Given the description of an element on the screen output the (x, y) to click on. 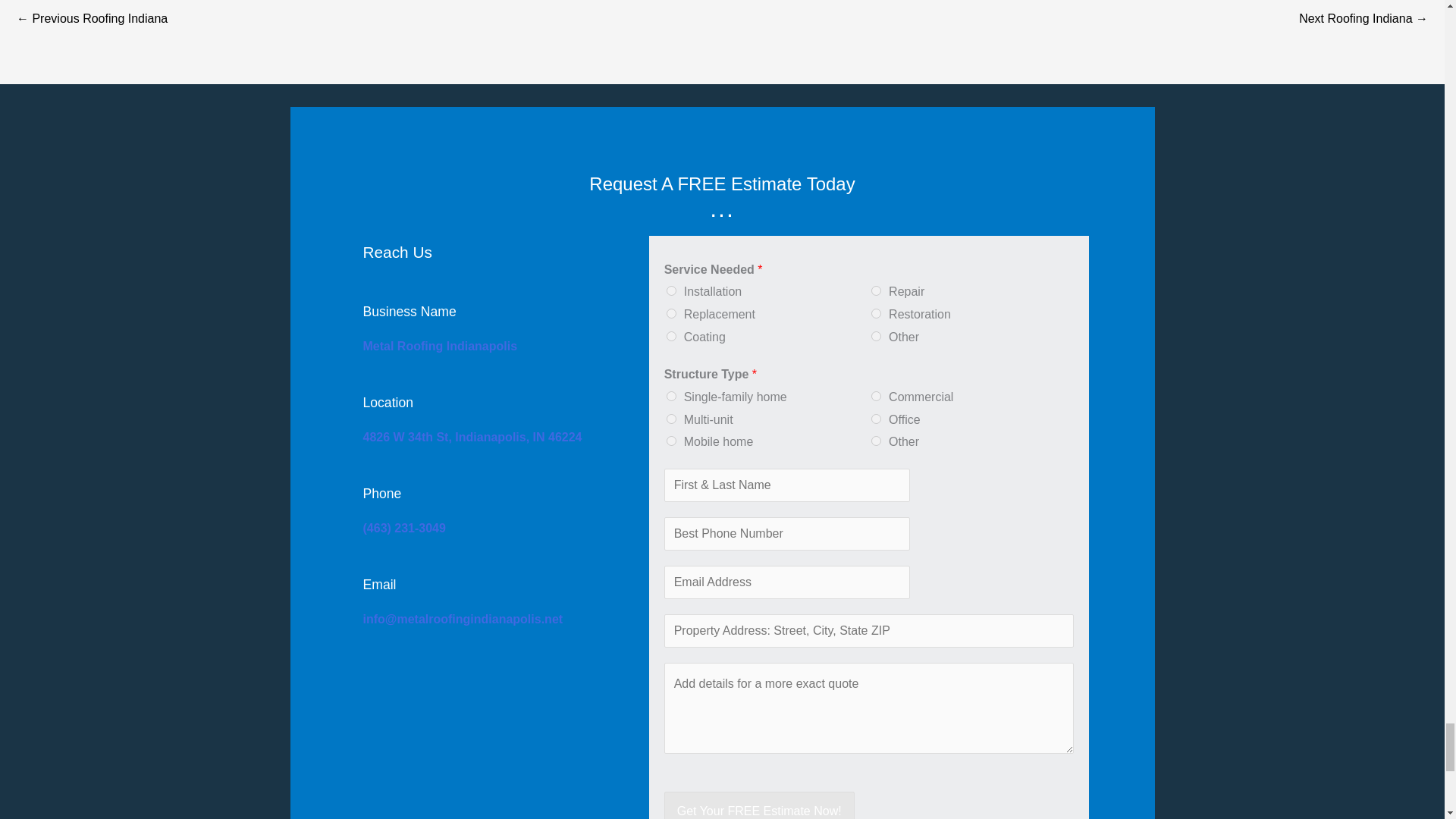
Restoration (875, 313)
Replacement (671, 313)
Other (875, 336)
Single-family home (671, 396)
Coating (671, 336)
Multi-unit (671, 419)
Other (875, 440)
Repair (875, 290)
Commercial (875, 396)
Office (875, 419)
Mobile home (671, 440)
Installation (671, 290)
